Given the description of an element on the screen output the (x, y) to click on. 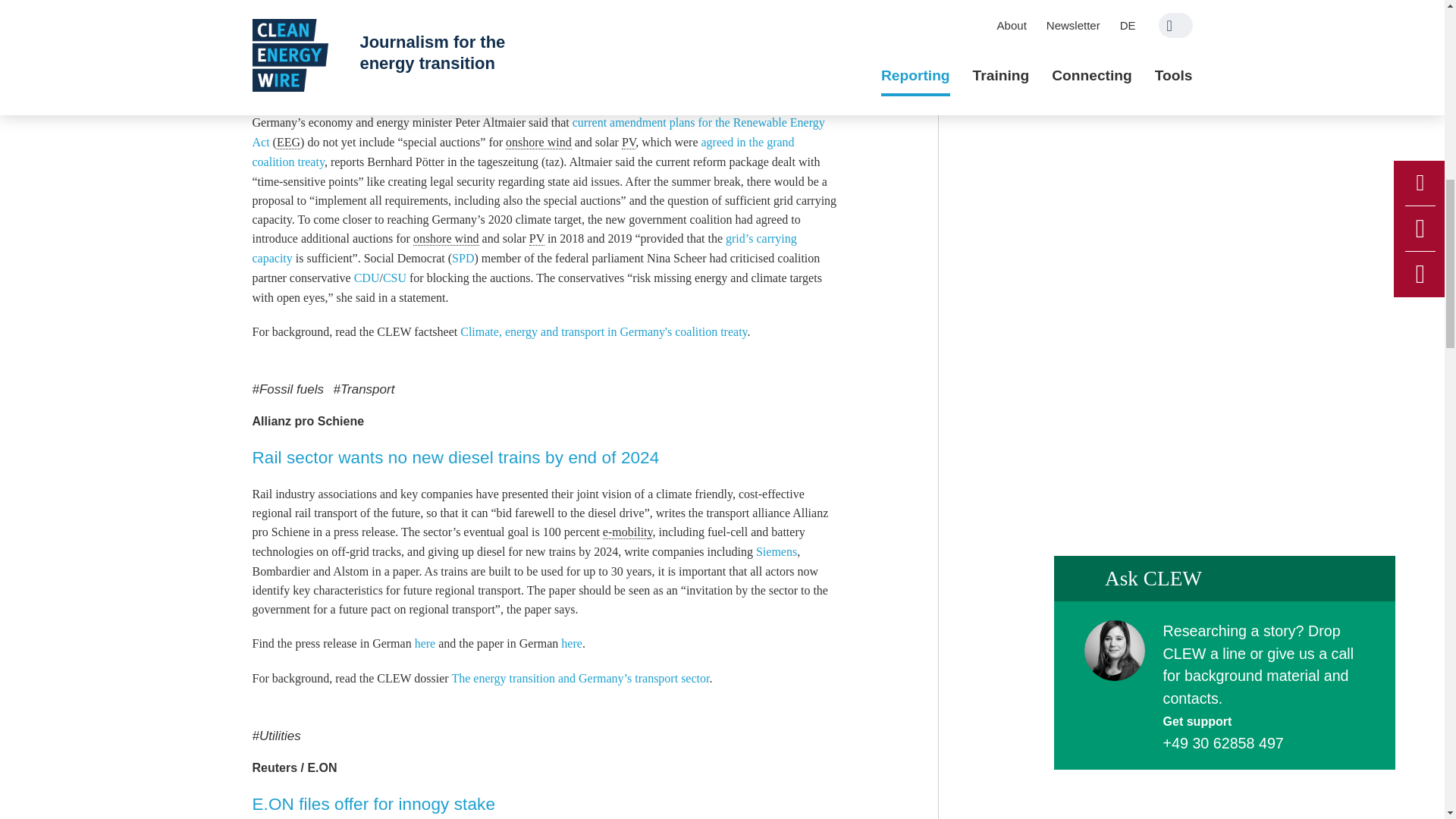
Single view (455, 456)
Single view (500, 85)
Single view (373, 804)
